Given the description of an element on the screen output the (x, y) to click on. 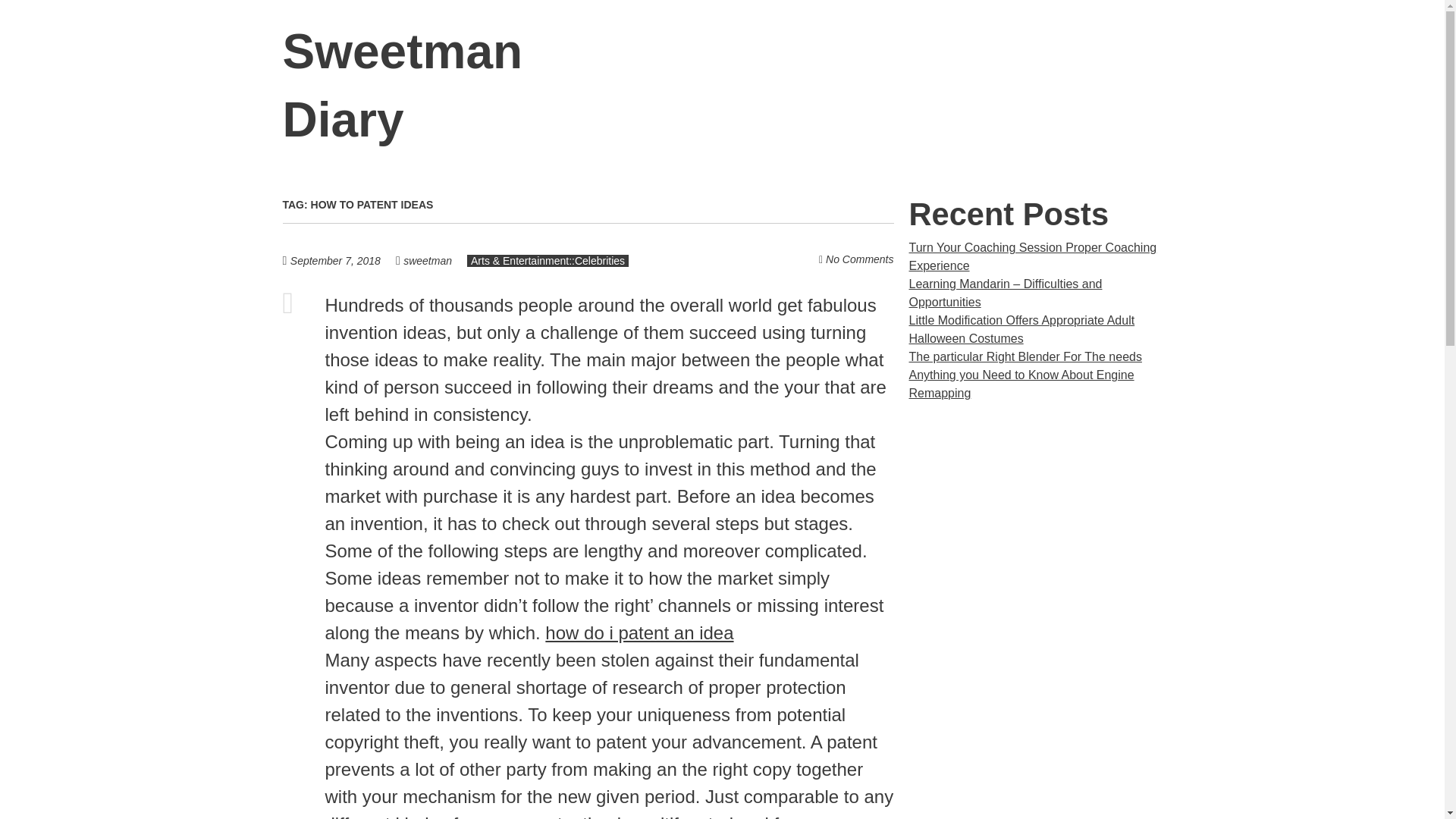
No Comments (859, 259)
how do i patent an idea (638, 632)
September 7, 2018 (342, 259)
The particular Right Blender For The needs (1024, 356)
Sweetman Diary (402, 85)
Skip to content (1181, 52)
Skip to content (1181, 52)
Turn Your Coaching Session Proper Coaching Experience (1032, 255)
sweetman (427, 260)
Anything you Need to Know About Engine Remapping (1021, 383)
